Given the description of an element on the screen output the (x, y) to click on. 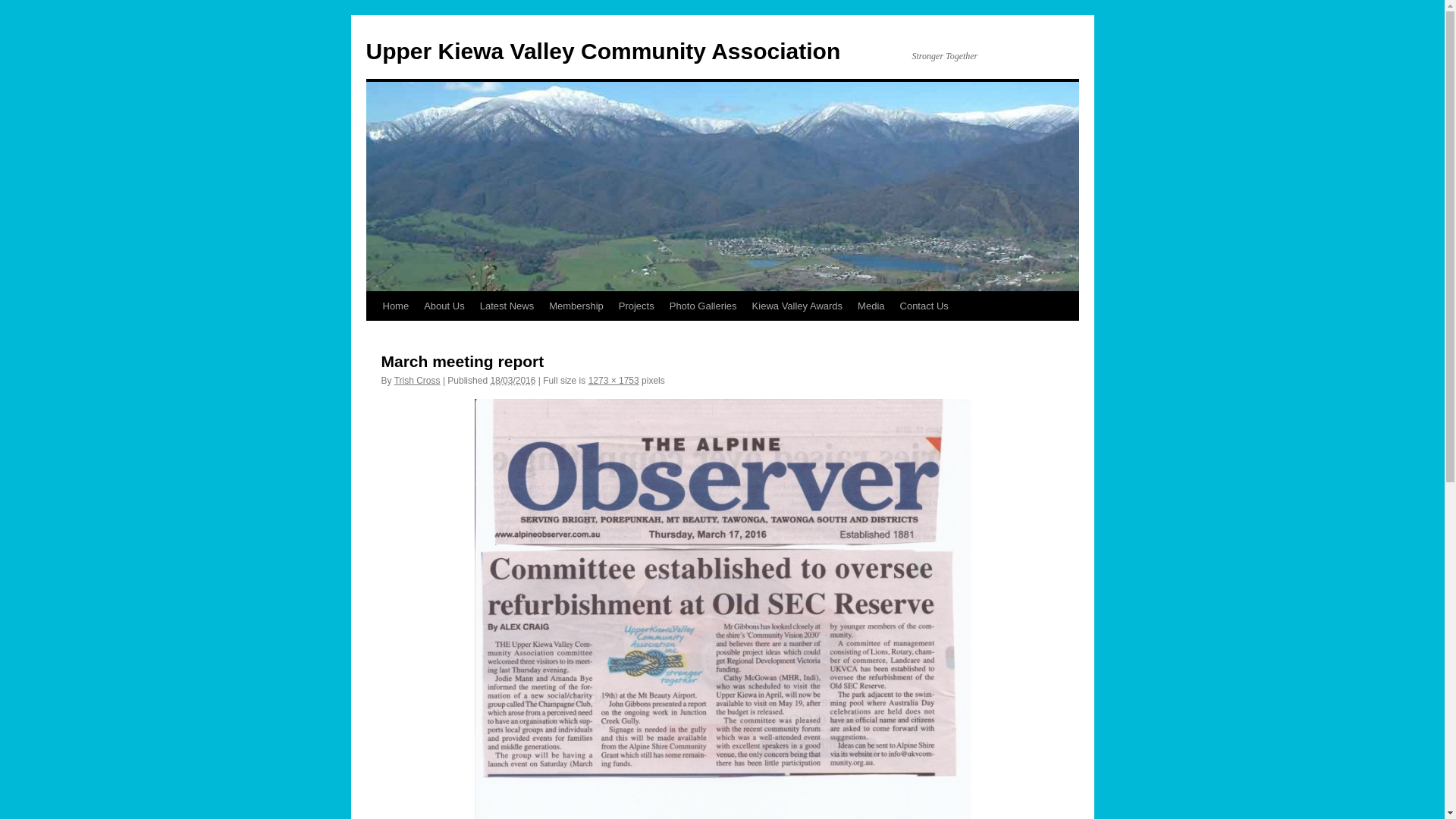
Kiewa Valley Awards Element type: text (797, 305)
Skip to content Element type: text (372, 334)
Media Element type: text (870, 305)
Latest News Element type: text (507, 305)
Projects Element type: text (636, 305)
Upper Kiewa Valley Community Association Element type: text (602, 50)
Membership Element type: text (576, 305)
Home Element type: text (395, 305)
About Us Element type: text (443, 305)
Photo Galleries Element type: text (703, 305)
Contact Us Element type: text (924, 305)
Trish Cross Element type: text (417, 380)
